Given the description of an element on the screen output the (x, y) to click on. 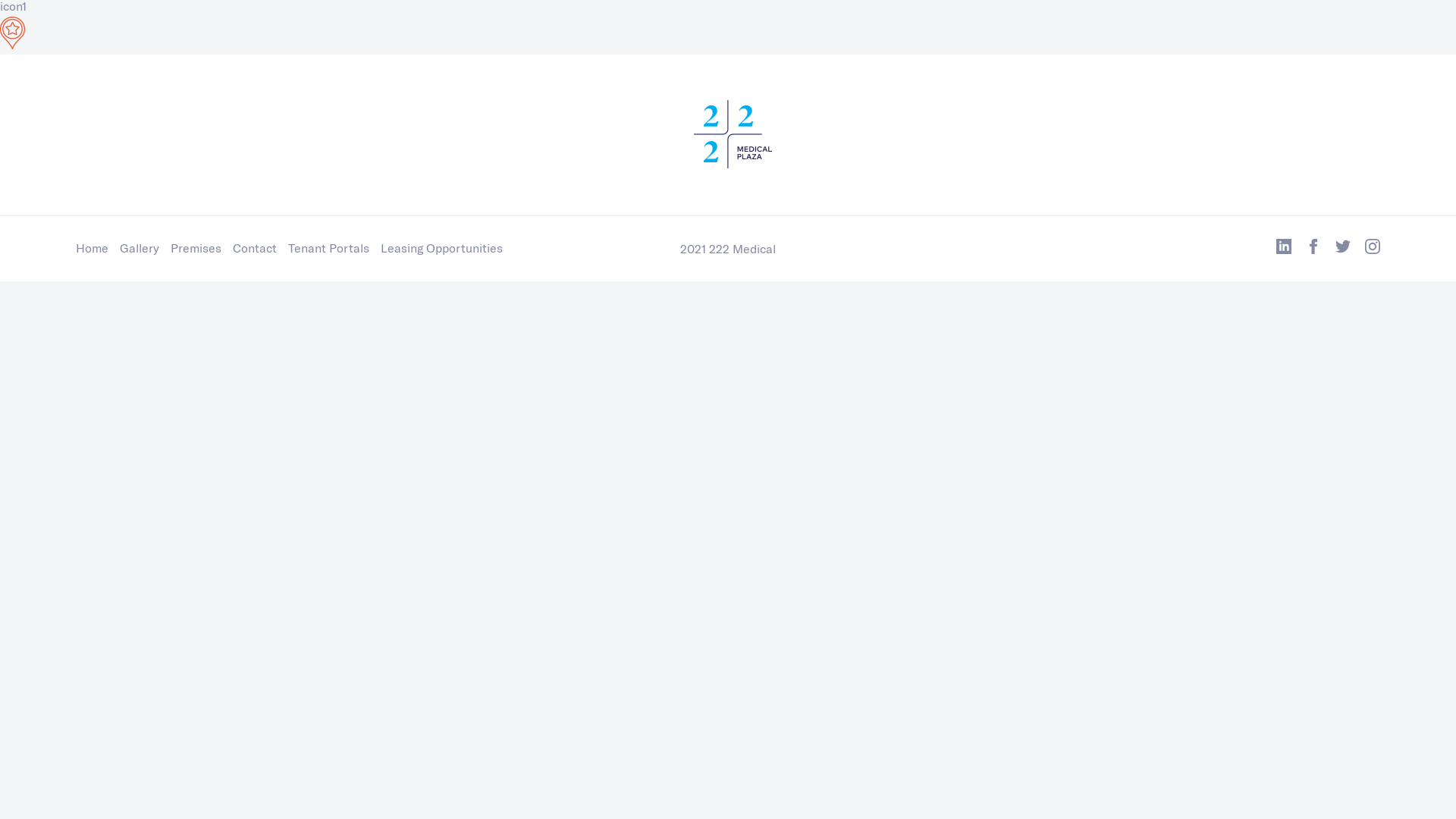
Leasing Opportunities Element type: text (441, 247)
Gallery Element type: text (139, 247)
Tenant Portals Element type: text (328, 247)
Home Element type: text (91, 247)
Contact Element type: text (254, 247)
Premises Element type: text (195, 247)
